Given the description of an element on the screen output the (x, y) to click on. 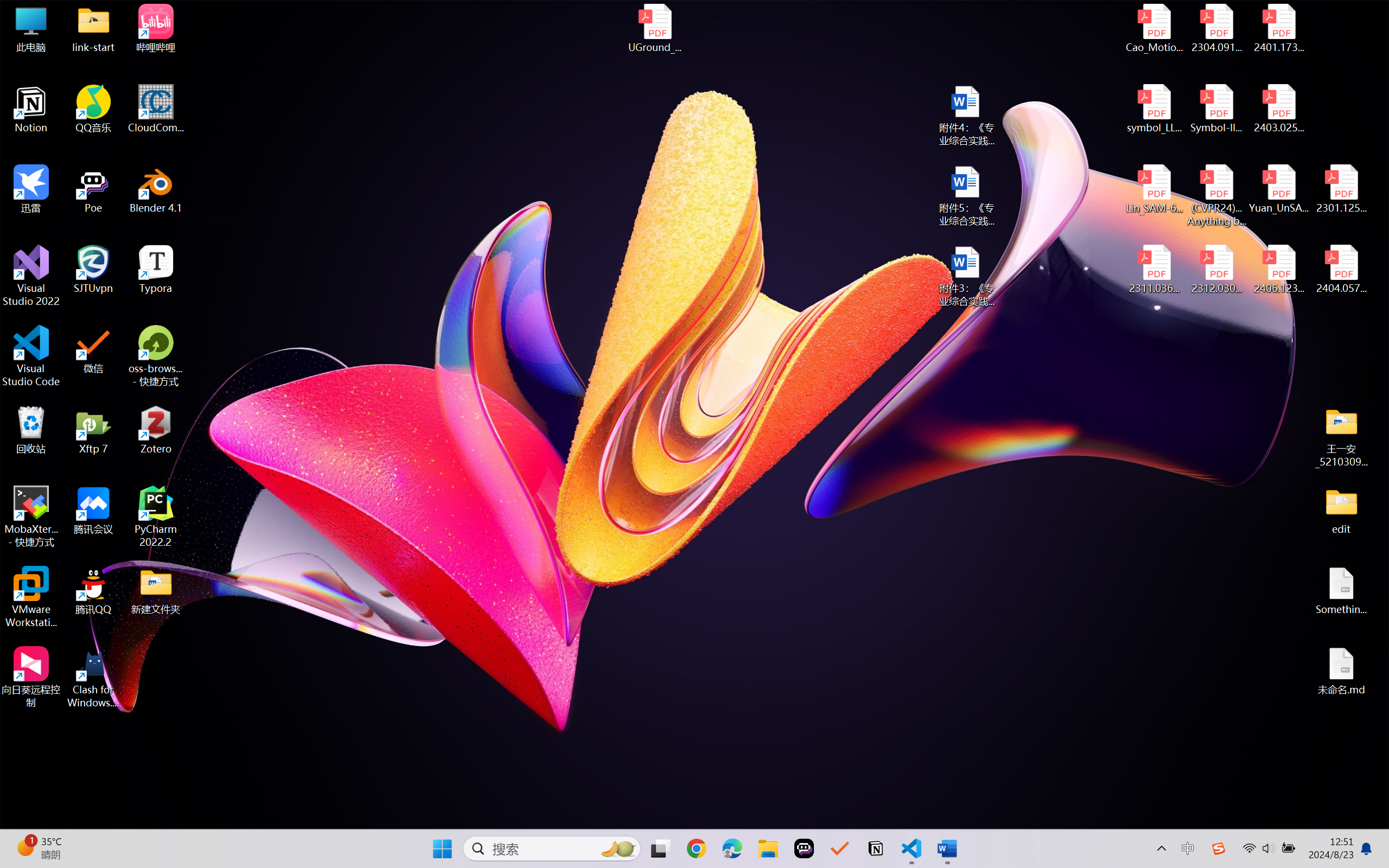
CloudCompare (156, 109)
Symbol-llm-v2.pdf (1216, 109)
2403.02502v1.pdf (1278, 109)
Visual Studio Code (31, 355)
